Given the description of an element on the screen output the (x, y) to click on. 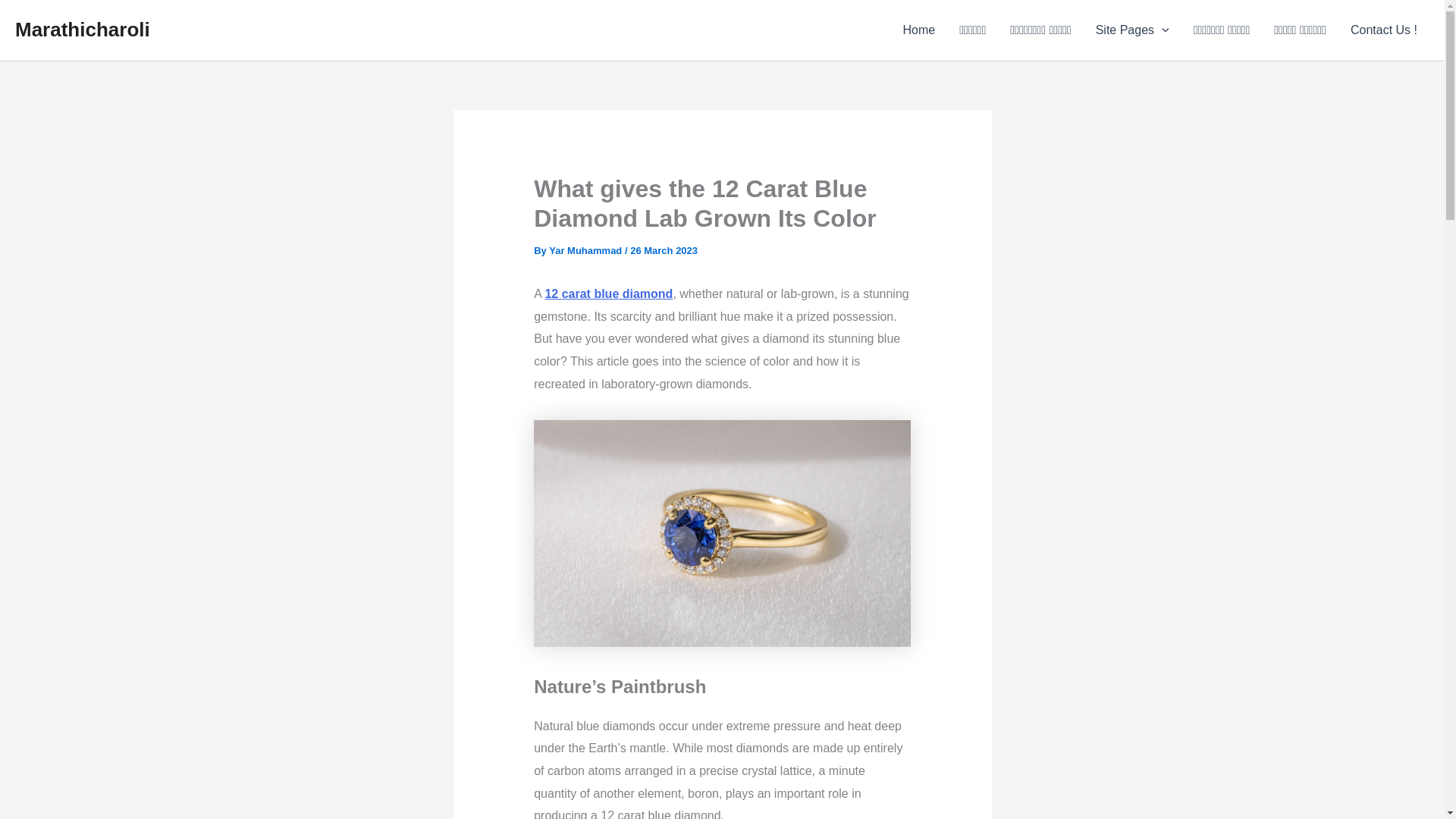
Site Pages (1131, 30)
View all posts by Yar Muhammad (586, 250)
Marathicharoli (81, 29)
Home (918, 30)
12 carat blue diamond (608, 293)
Yar Muhammad (586, 250)
Contact Us ! (1383, 30)
